Given the description of an element on the screen output the (x, y) to click on. 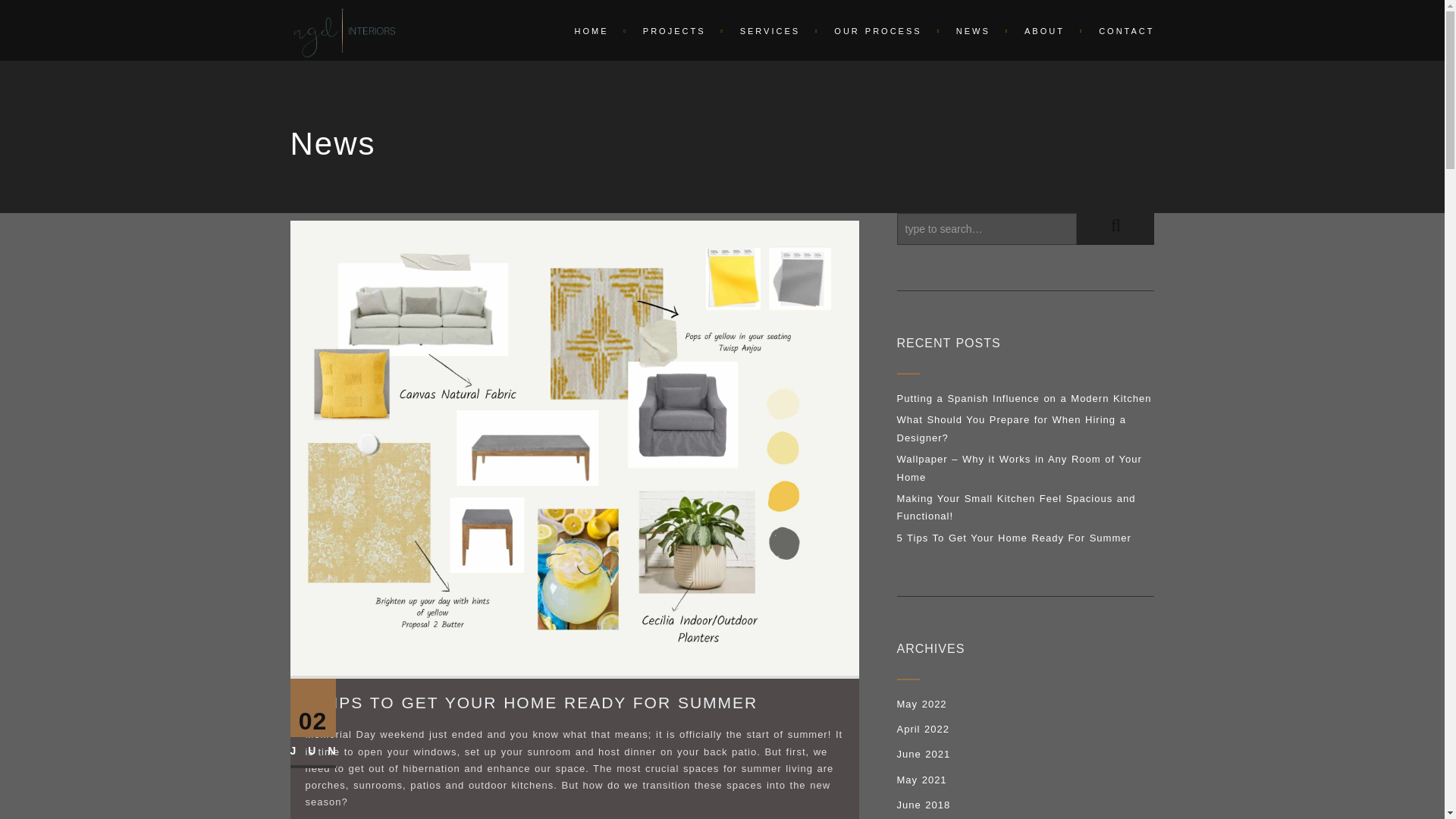
News (974, 30)
Services (772, 30)
ABOUT (1046, 30)
NEWS (974, 30)
About (1046, 30)
HOME (593, 30)
Contact (1118, 30)
Projects (676, 30)
Our Process (879, 30)
CONTACT (1118, 30)
Home (593, 30)
OUR PROCESS (879, 30)
PROJECTS (676, 30)
SERVICES (772, 30)
